Given the description of an element on the screen output the (x, y) to click on. 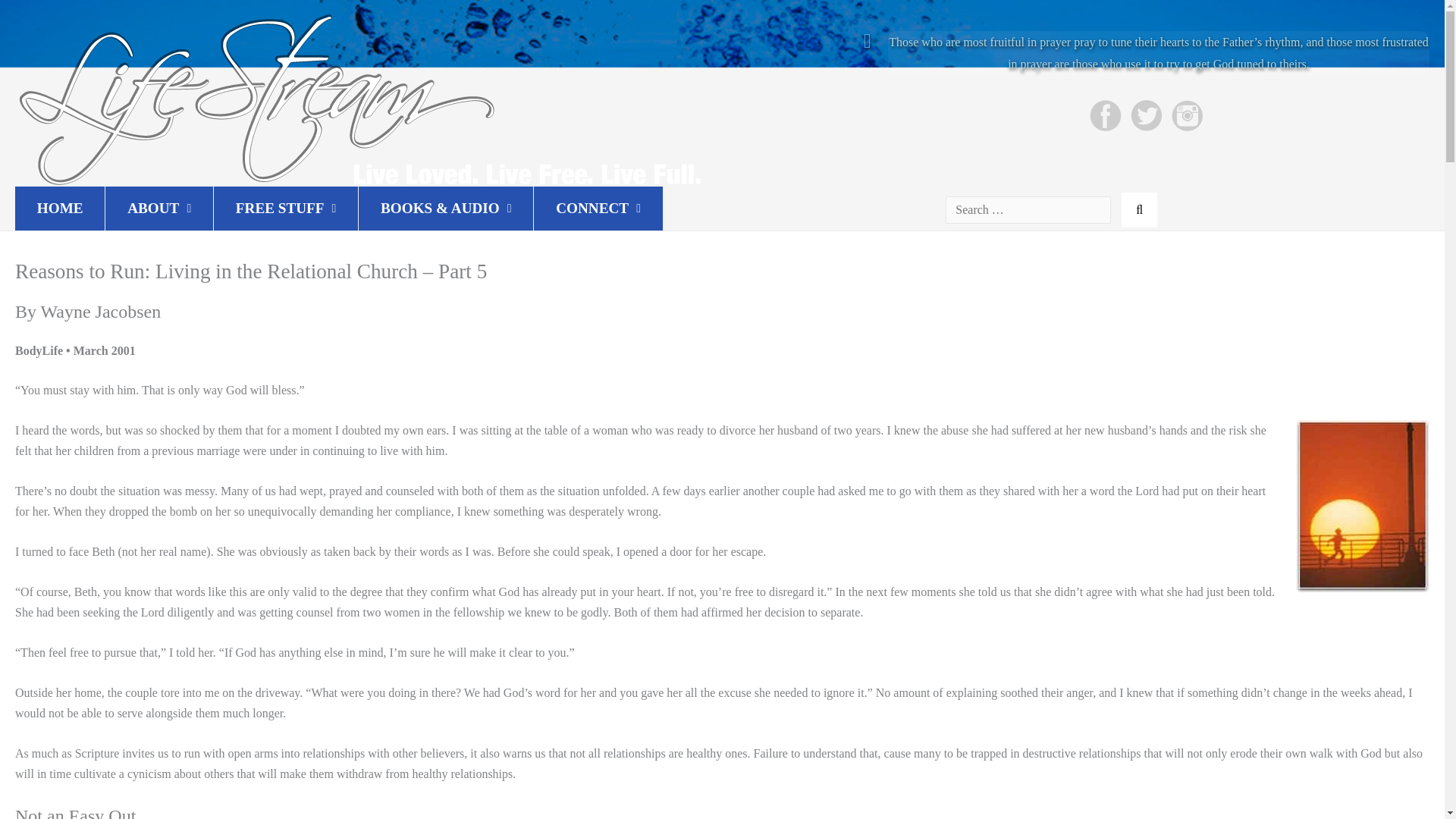
FREE STUFF (286, 208)
ABOUT (158, 208)
HOME (59, 208)
